Given the description of an element on the screen output the (x, y) to click on. 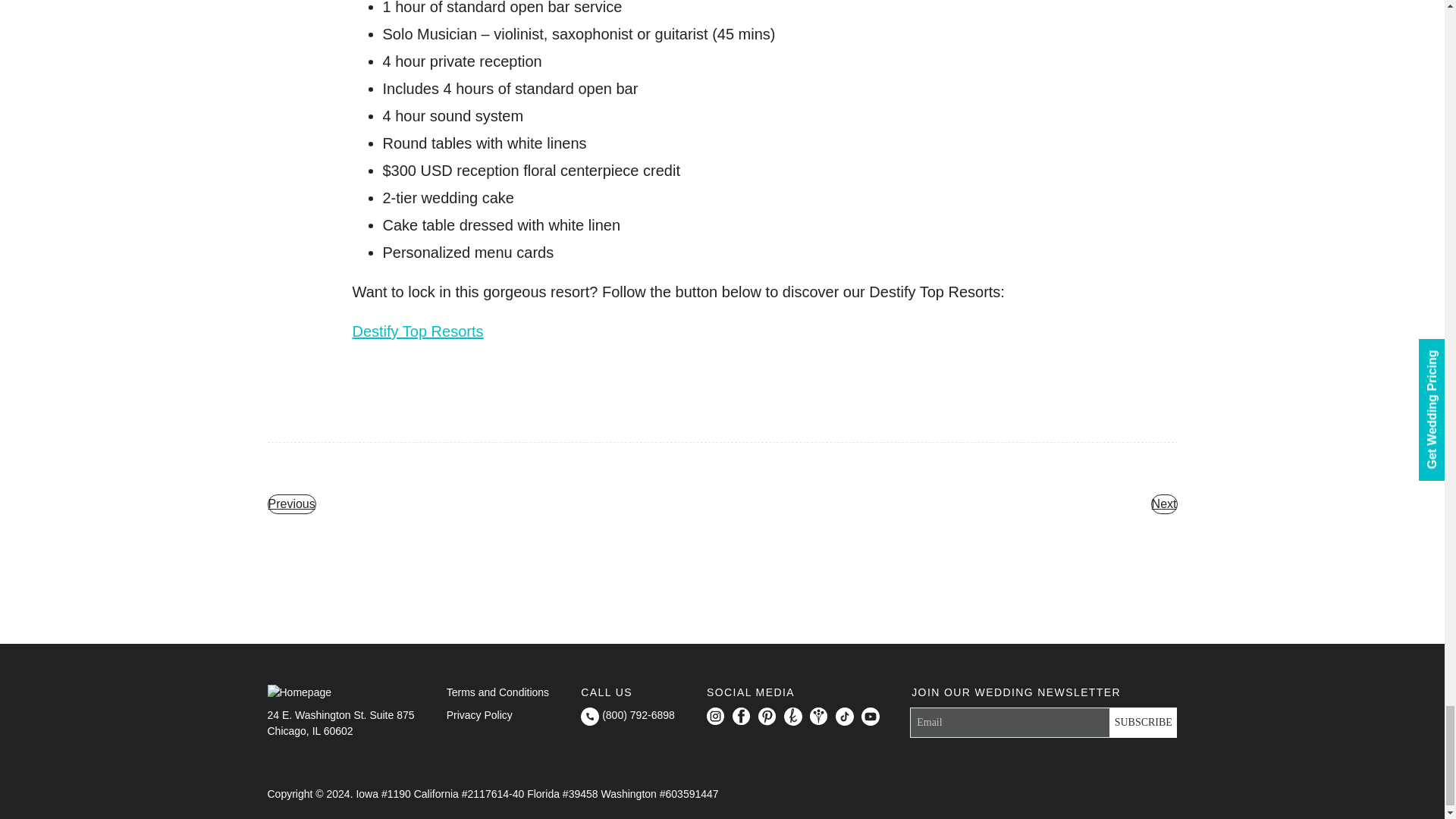
Homepage (298, 692)
